Given the description of an element on the screen output the (x, y) to click on. 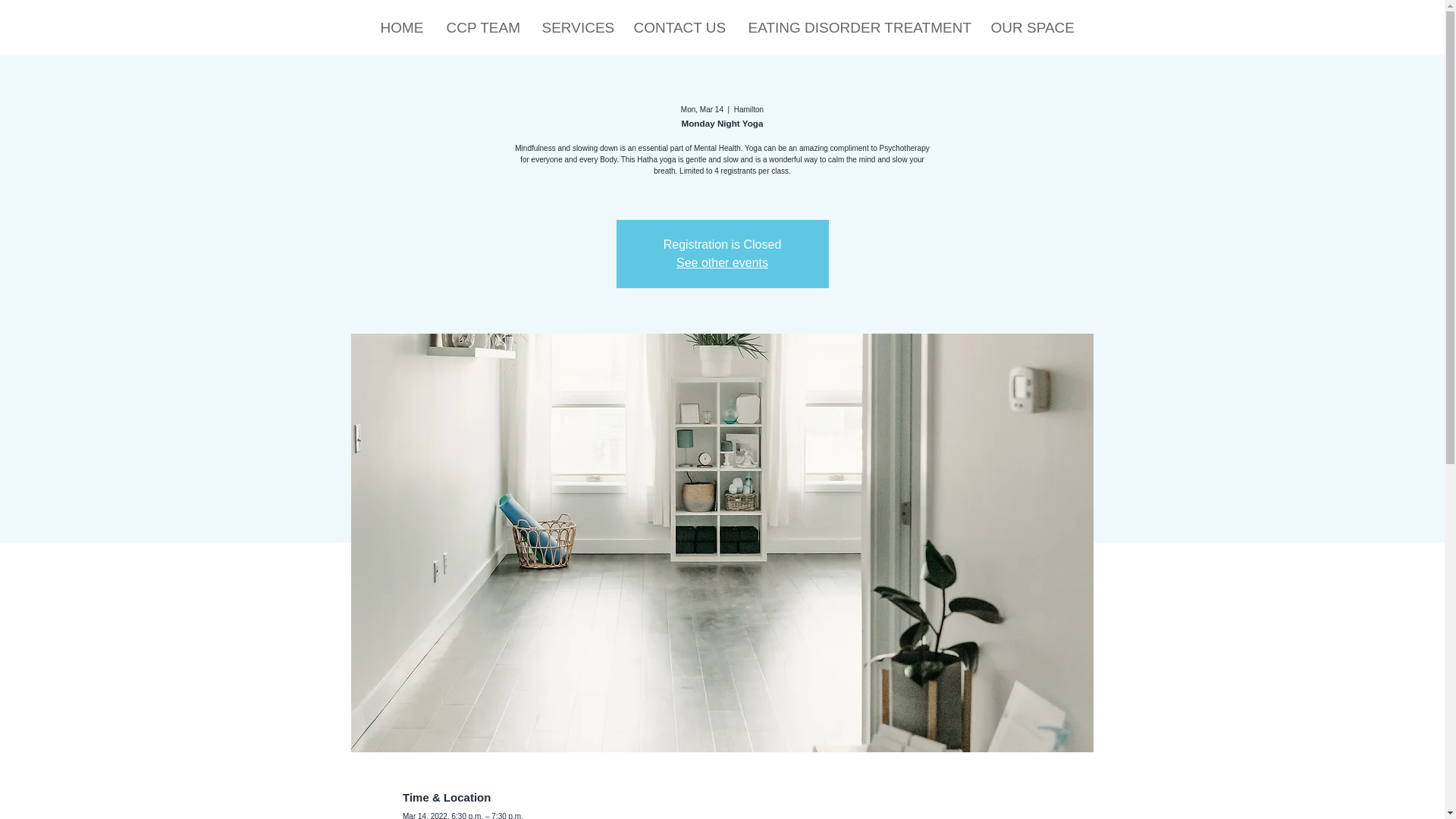
CCP TEAM (483, 27)
EATING DISORDER TREATMENT (857, 27)
CONTACT US (678, 27)
SERVICES (577, 27)
See other events (722, 262)
OUR SPACE (1031, 27)
HOME (400, 27)
